Given the description of an element on the screen output the (x, y) to click on. 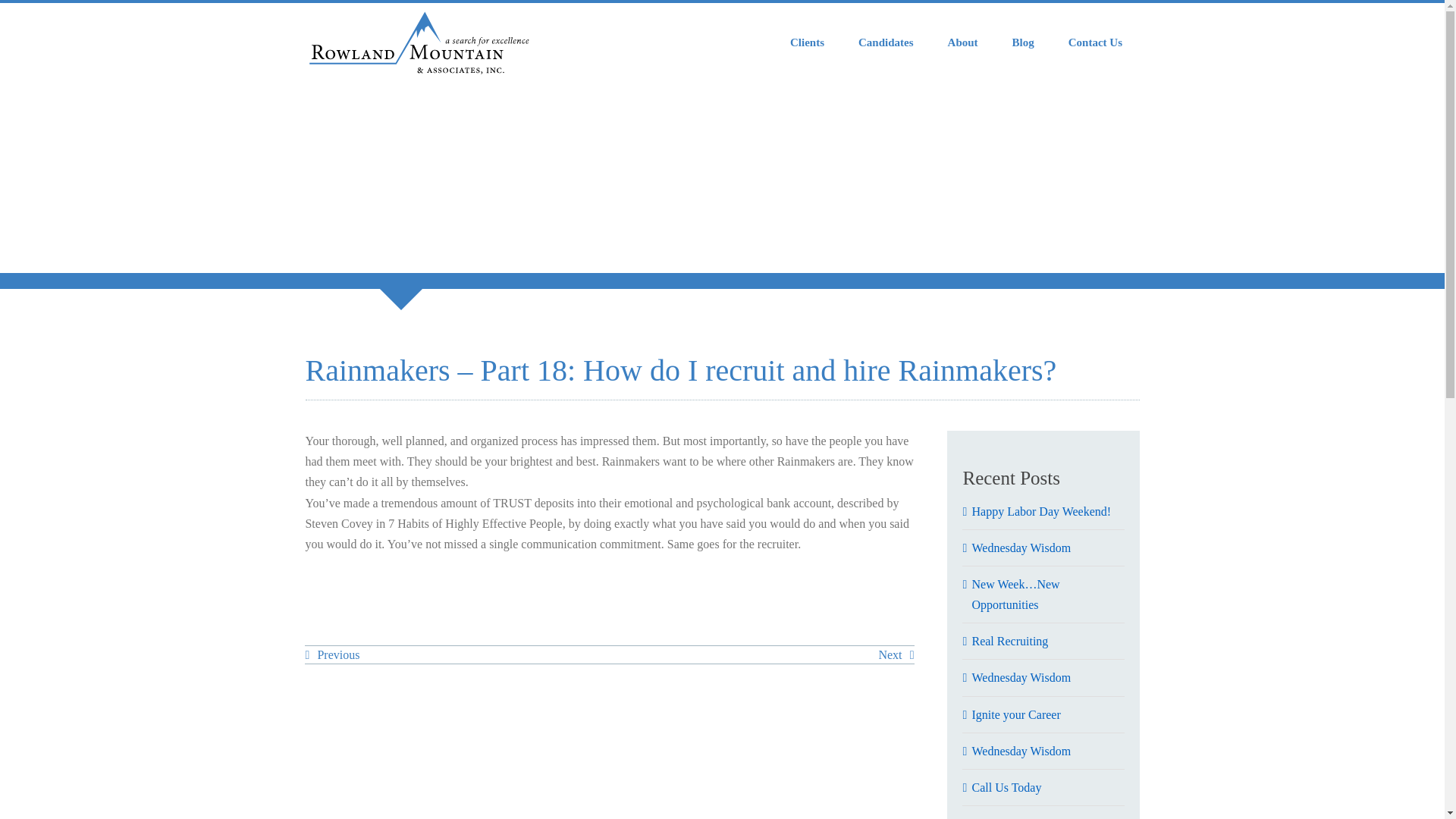
Candidates (886, 42)
Ignite your Career (1015, 714)
Wednesday Wisdom (1020, 547)
Wednesday Wisdom (1020, 676)
Happy Labor Day Weekend! (1040, 511)
Next (895, 654)
Contact Us (1094, 42)
Happy Weekend (1011, 818)
Wednesday Wisdom (1020, 750)
Call Us Today (1006, 787)
